Given the description of an element on the screen output the (x, y) to click on. 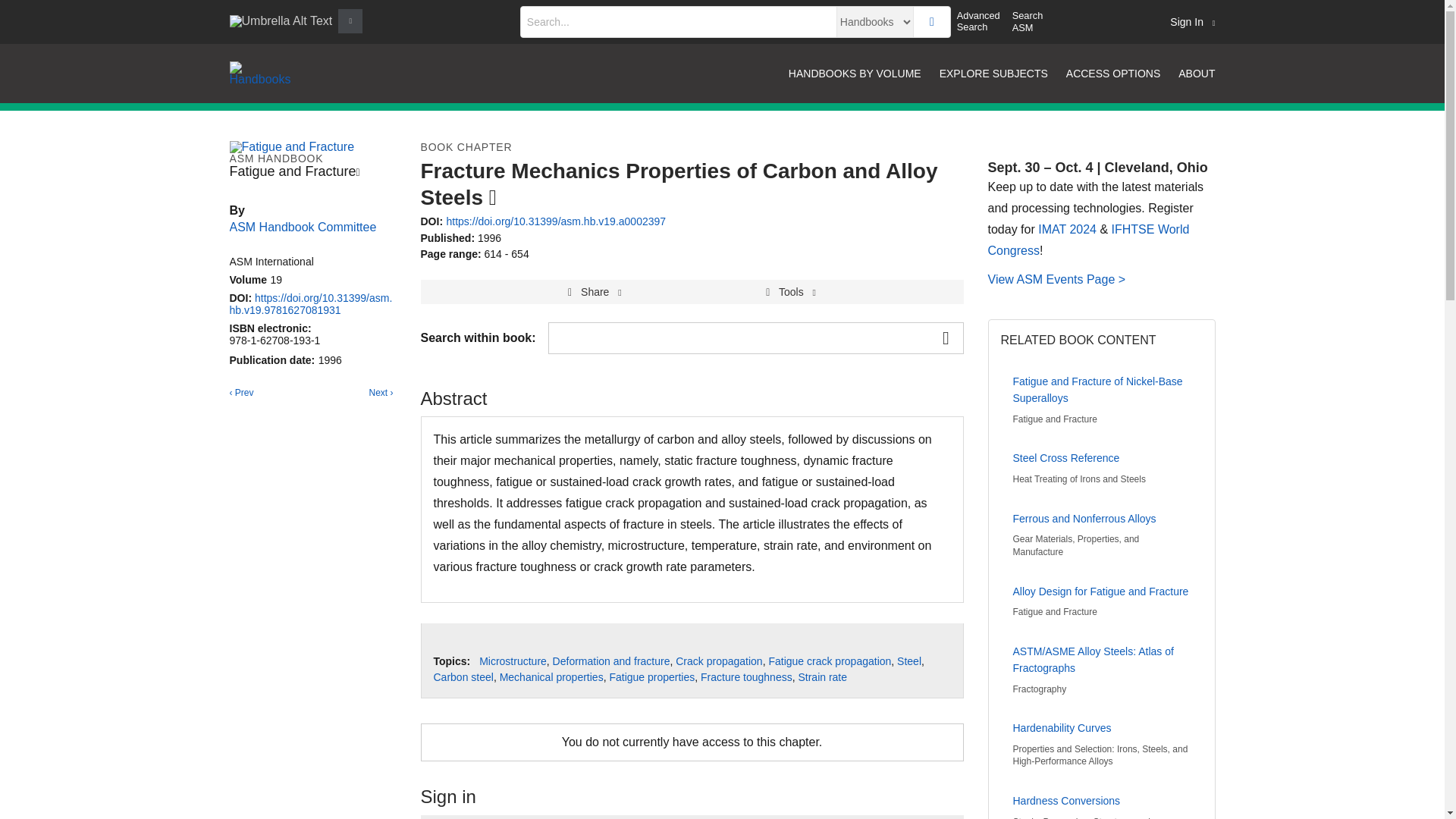
search input (678, 21)
Available to Purchase (492, 197)
